Given the description of an element on the screen output the (x, y) to click on. 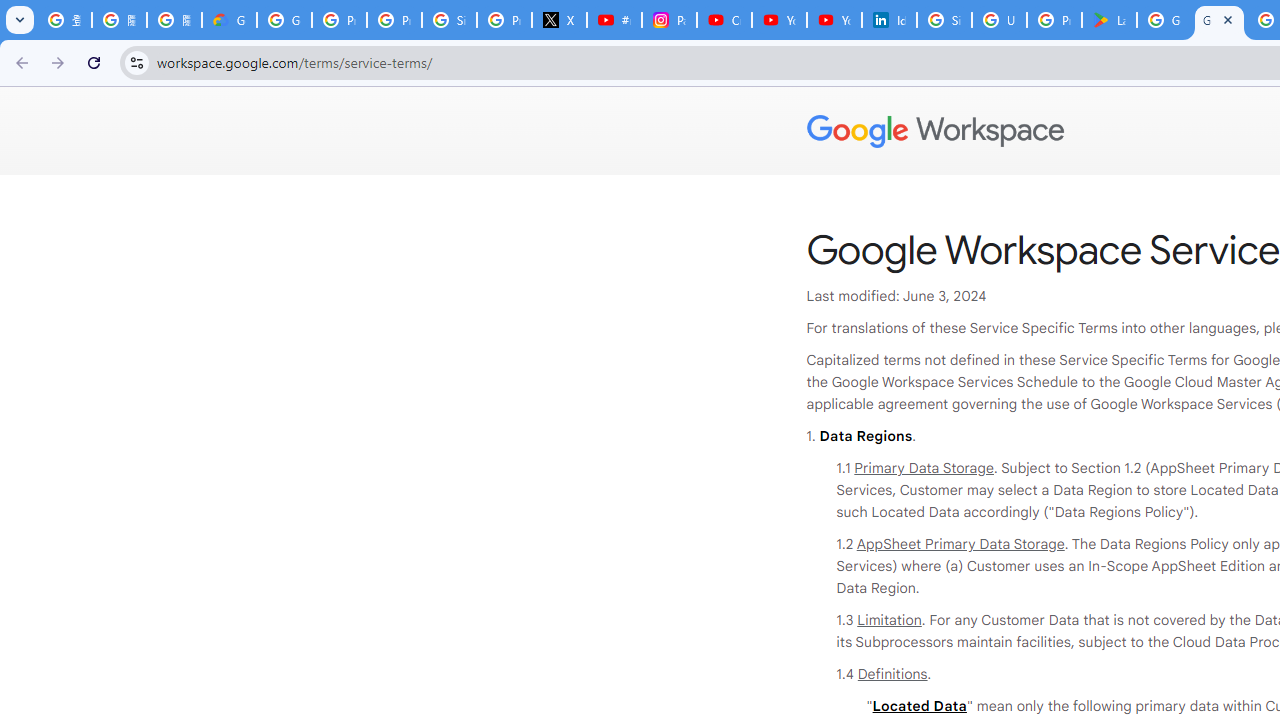
Last Shelter: Survival - Apps on Google Play (1108, 20)
Sign in - Google Accounts (449, 20)
Google Cloud Privacy Notice (229, 20)
#nbabasketballhighlights - YouTube (614, 20)
Back (19, 62)
View site information (136, 62)
Close (1227, 19)
X (559, 20)
Reload (93, 62)
